Given the description of an element on the screen output the (x, y) to click on. 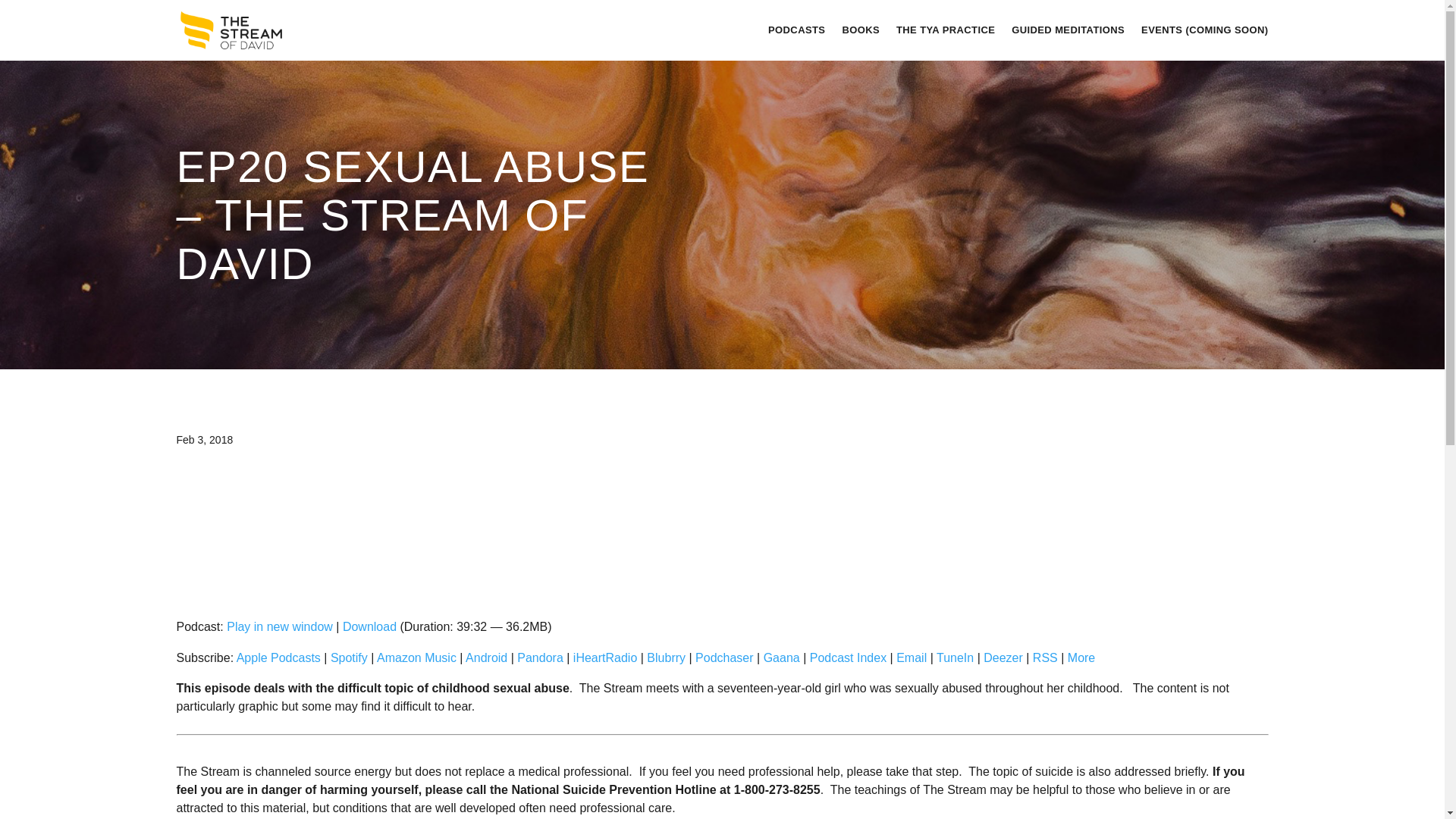
PODCASTS (796, 30)
Subscribe on Gaana (780, 657)
Download (369, 626)
Apple Podcasts (277, 657)
Android (485, 657)
Play in new window (280, 626)
Podcast Index (847, 657)
Subscribe on Podchaser (724, 657)
Spotify (349, 657)
Subscribe on Deezer (1003, 657)
BOOKS (860, 30)
Amazon Music (417, 657)
Subscribe by Email (911, 657)
Subscribe on Amazon Music (417, 657)
More (1080, 657)
